Given the description of an element on the screen output the (x, y) to click on. 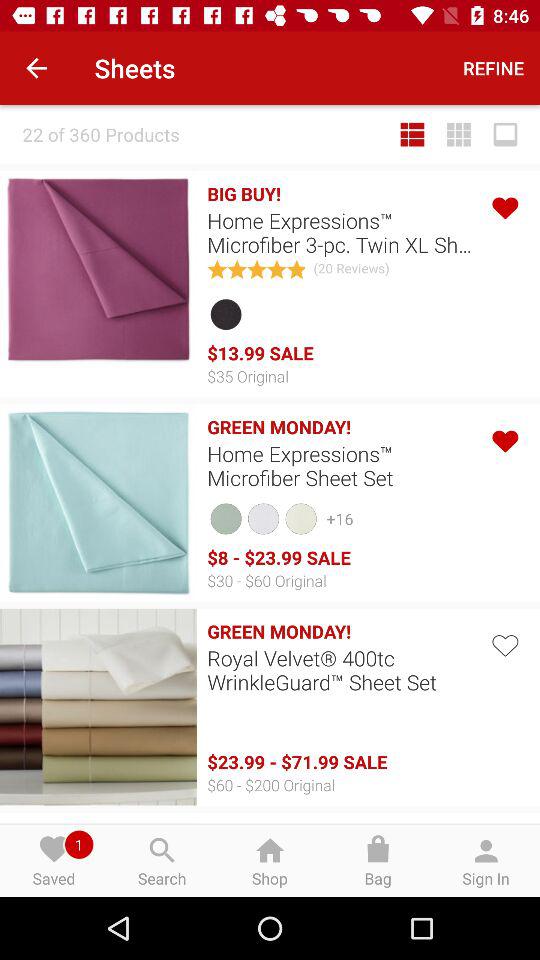
go do like (504, 438)
